Given the description of an element on the screen output the (x, y) to click on. 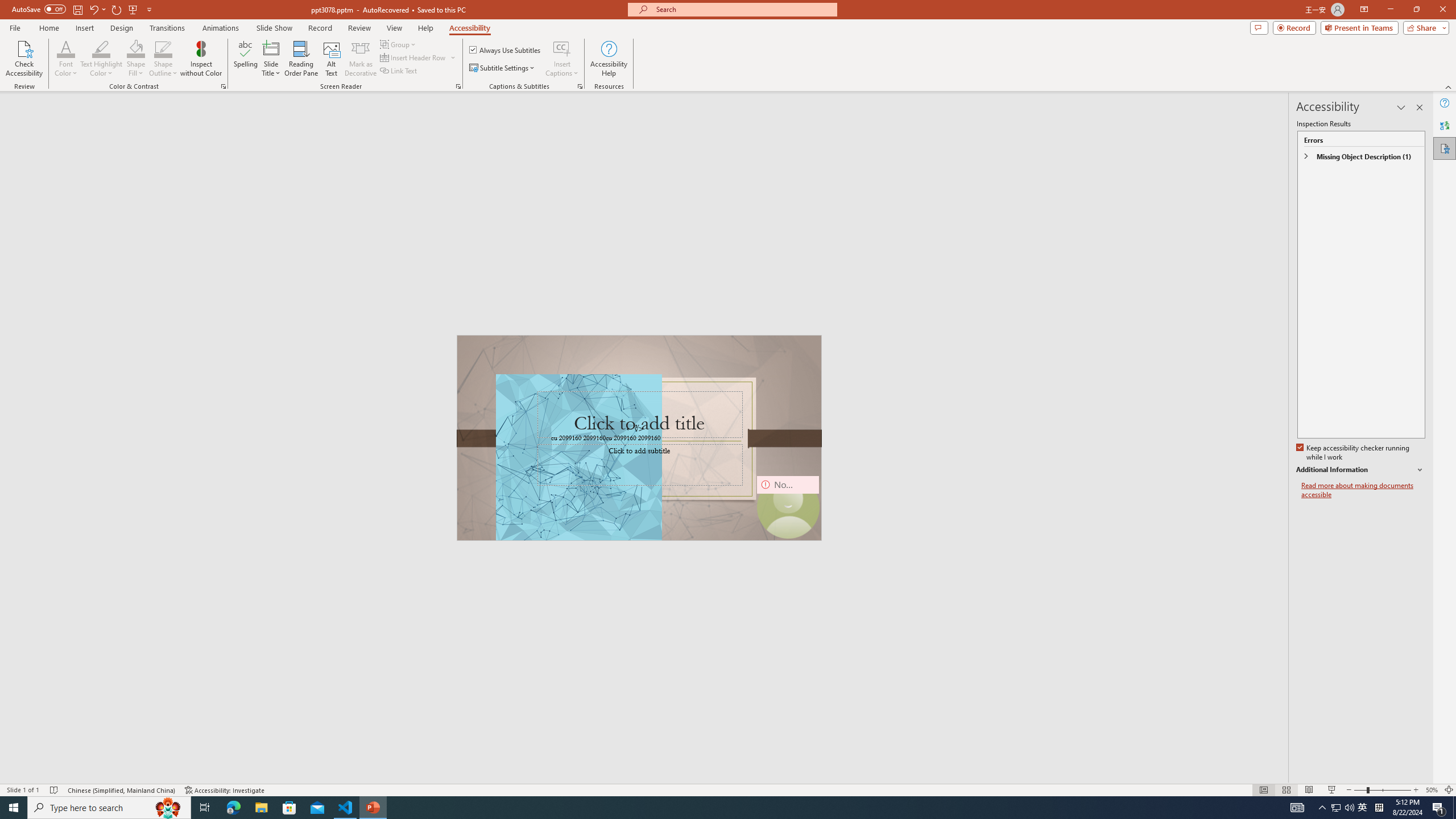
Captions & Subtitles (580, 85)
TextBox 61 (638, 438)
An abstract genetic concept (639, 437)
